Given the description of an element on the screen output the (x, y) to click on. 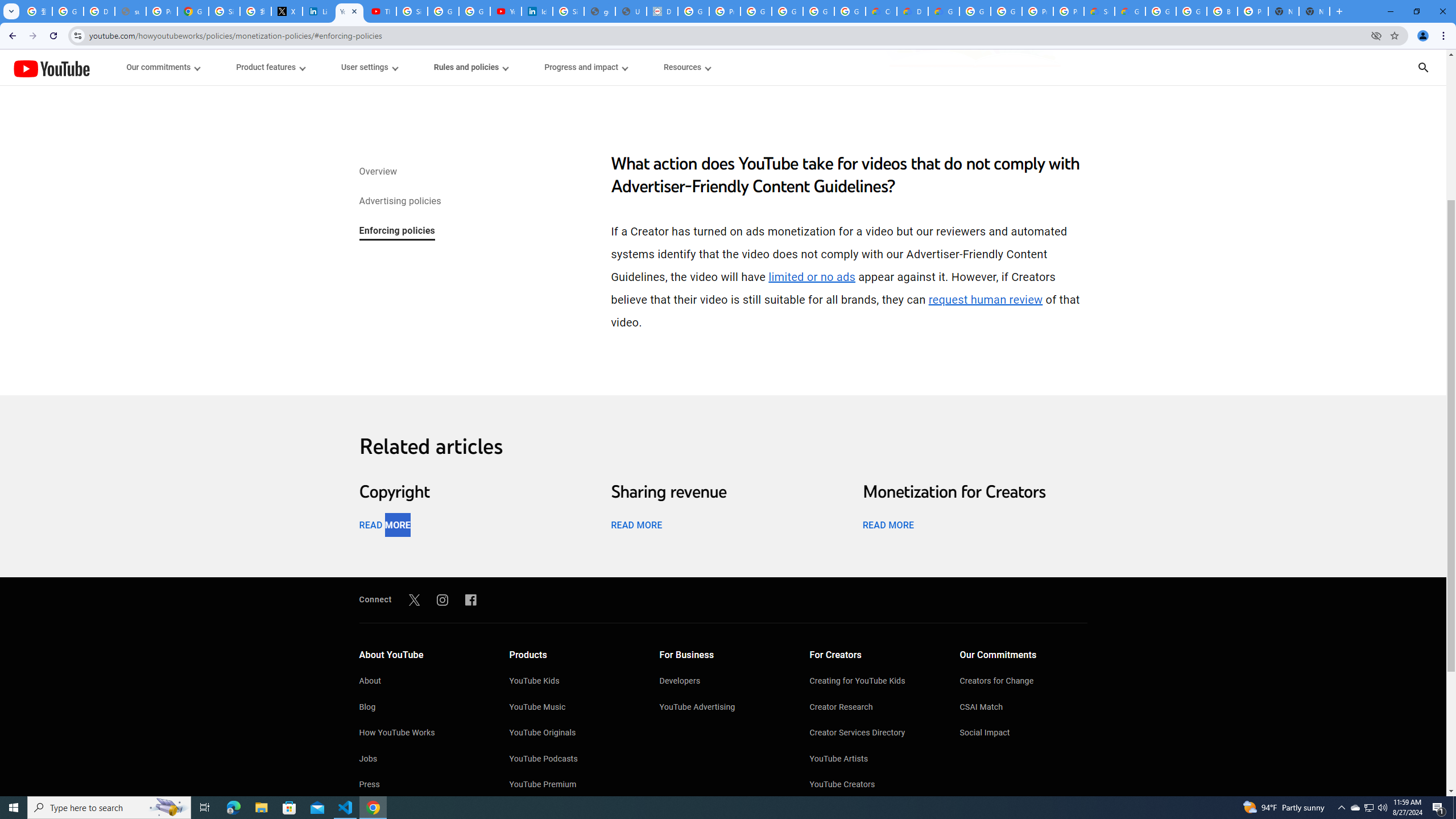
Facebook (470, 599)
Advertising policies (399, 202)
YouTube Advertising (723, 708)
User Details (631, 11)
Data Privacy Framework (662, 11)
google_privacy_policy_en.pdf (599, 11)
YouTube (51, 68)
YouTube Artists (873, 759)
Social Impact (1023, 733)
LinkedIn Privacy Policy (318, 11)
